Given the description of an element on the screen output the (x, y) to click on. 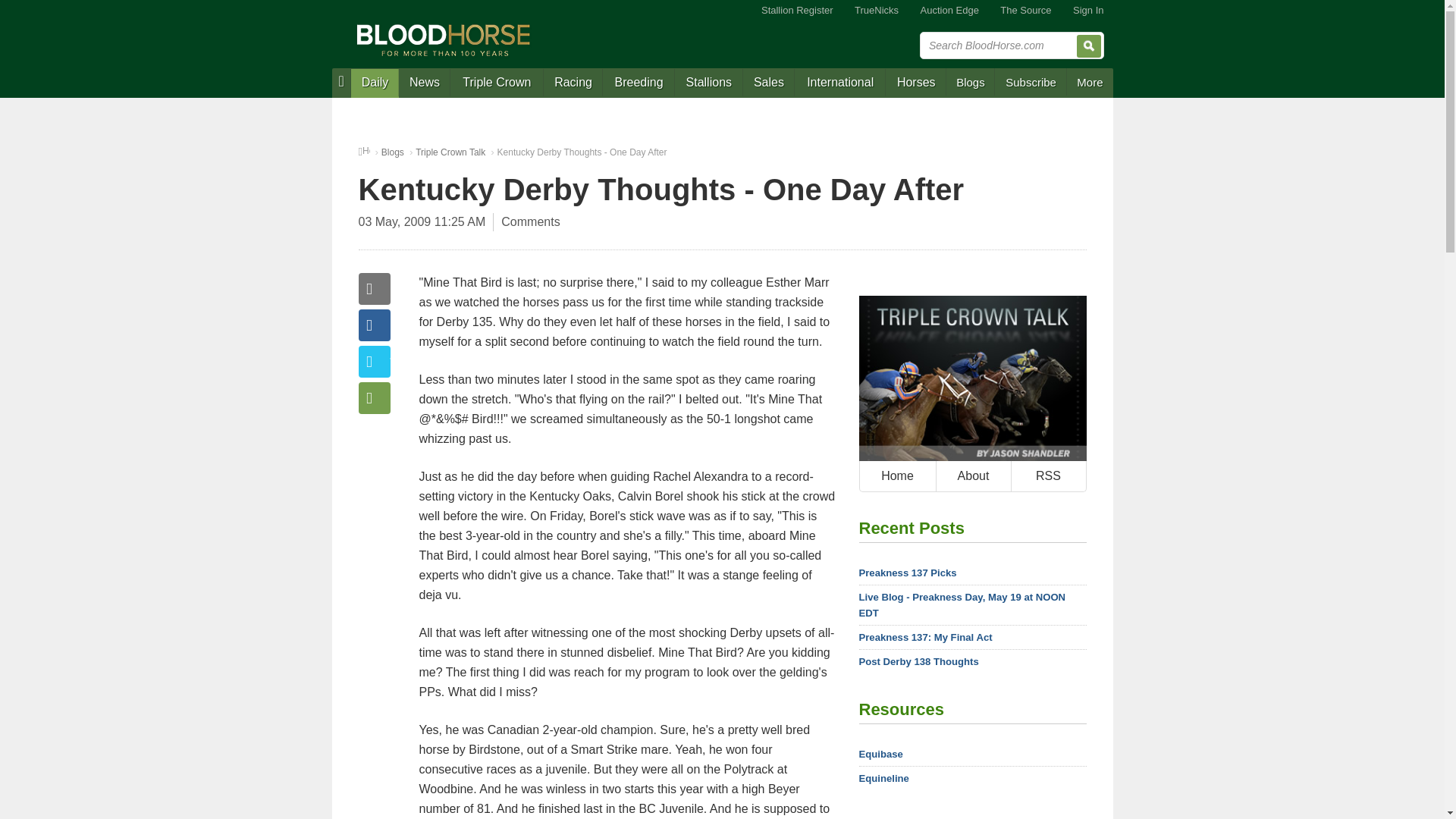
Blogs (970, 82)
Triple Crown Talk (449, 152)
Thoroughbred Racing (573, 82)
Home (898, 476)
News (423, 82)
Blood-Horse Daily (374, 82)
RSS (1047, 476)
Search (1088, 46)
TrueNicks (876, 10)
Horses (915, 82)
Subscribe (1030, 82)
Twitter (374, 361)
Sign In (1088, 10)
Share this on Facebook (374, 325)
International (840, 82)
